Given the description of an element on the screen output the (x, y) to click on. 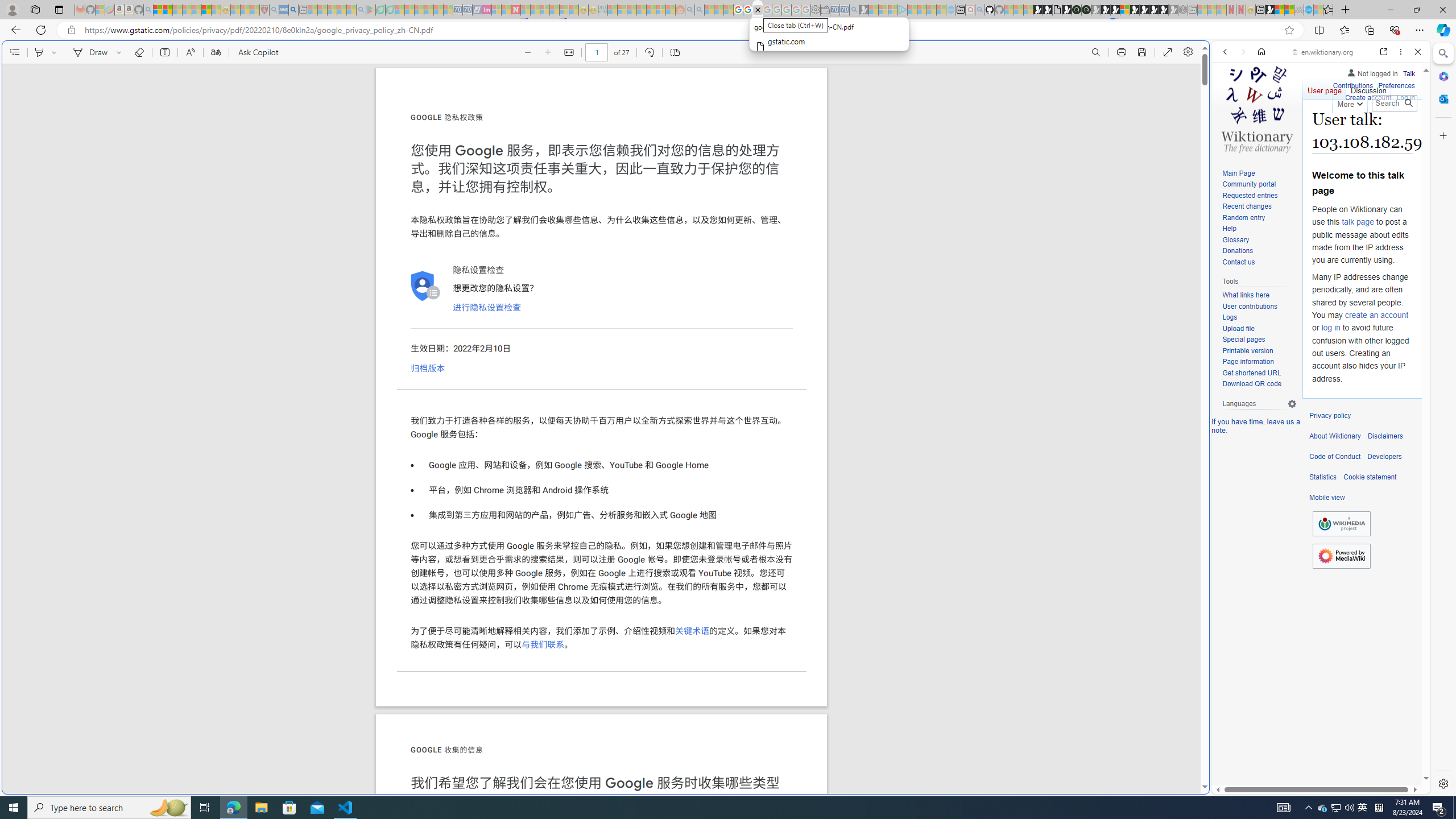
google - Search - Sleeping (360, 9)
Donations (1259, 251)
Create account (1367, 96)
Contents (14, 52)
Privacy policy (1329, 415)
Home (1261, 51)
Logs (1259, 317)
Upload file (1238, 328)
Help (1259, 229)
Glossary (1259, 240)
Talk (1408, 71)
